Given the description of an element on the screen output the (x, y) to click on. 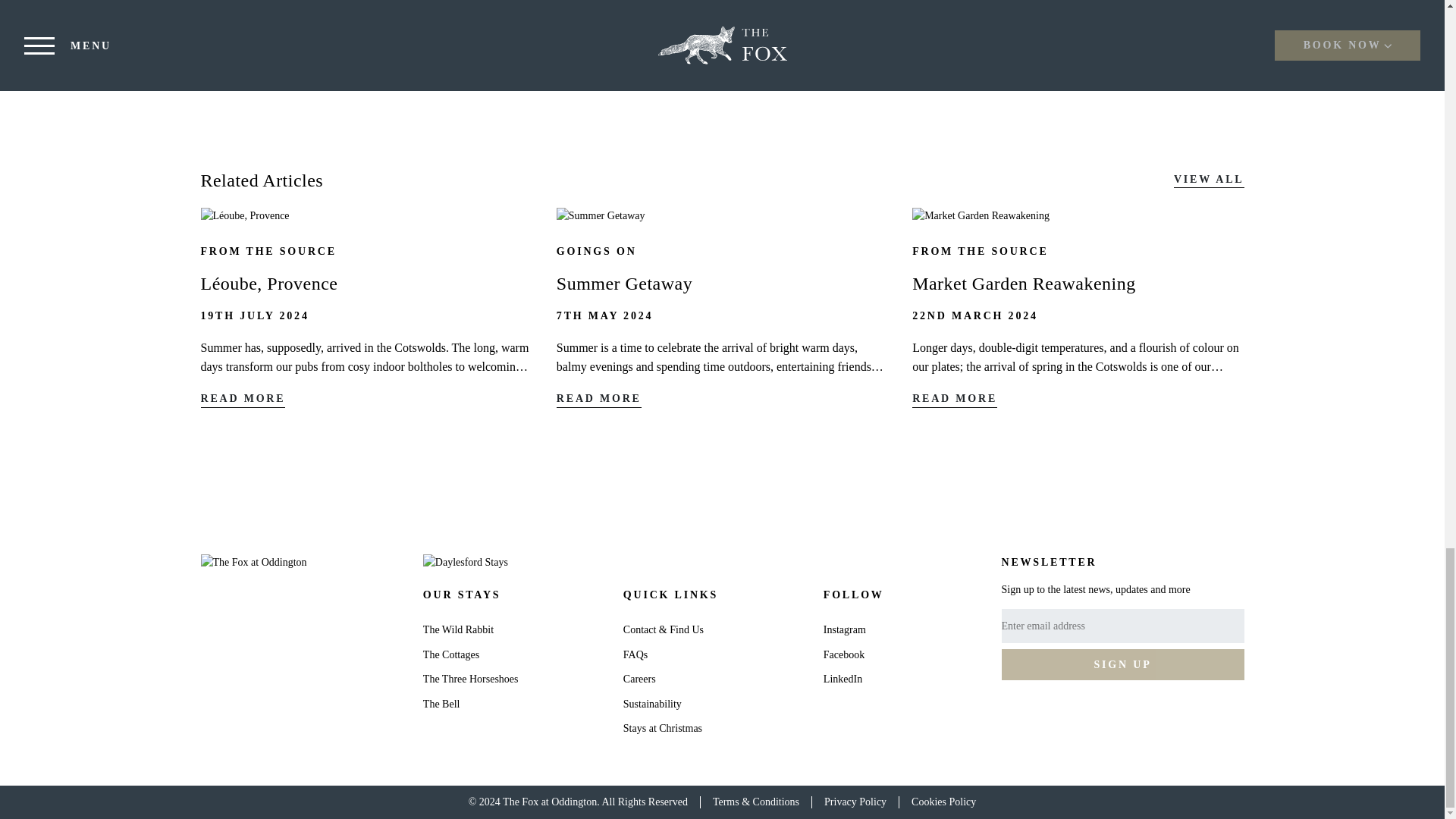
Stays at Christmas (662, 727)
The Cottages (451, 654)
The Wild Rabbit (458, 629)
READ MORE (599, 400)
READ MORE (242, 400)
Instagram (845, 629)
Careers (639, 678)
FROM THE SOURCE (268, 251)
FROM THE SOURCE (980, 251)
READ MORE (954, 400)
